Given the description of an element on the screen output the (x, y) to click on. 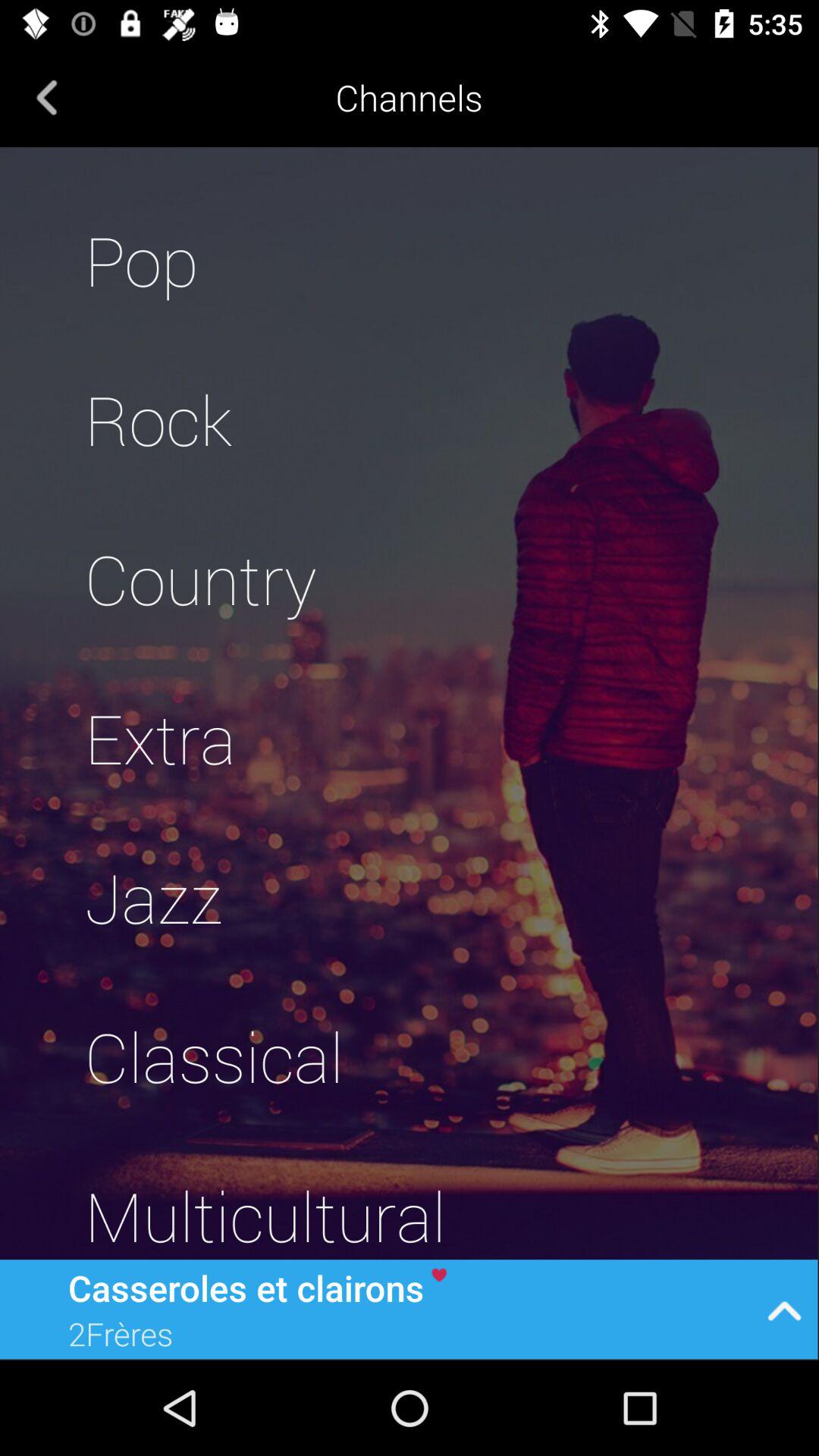
turn off the item to the left of channels item (47, 97)
